Given the description of an element on the screen output the (x, y) to click on. 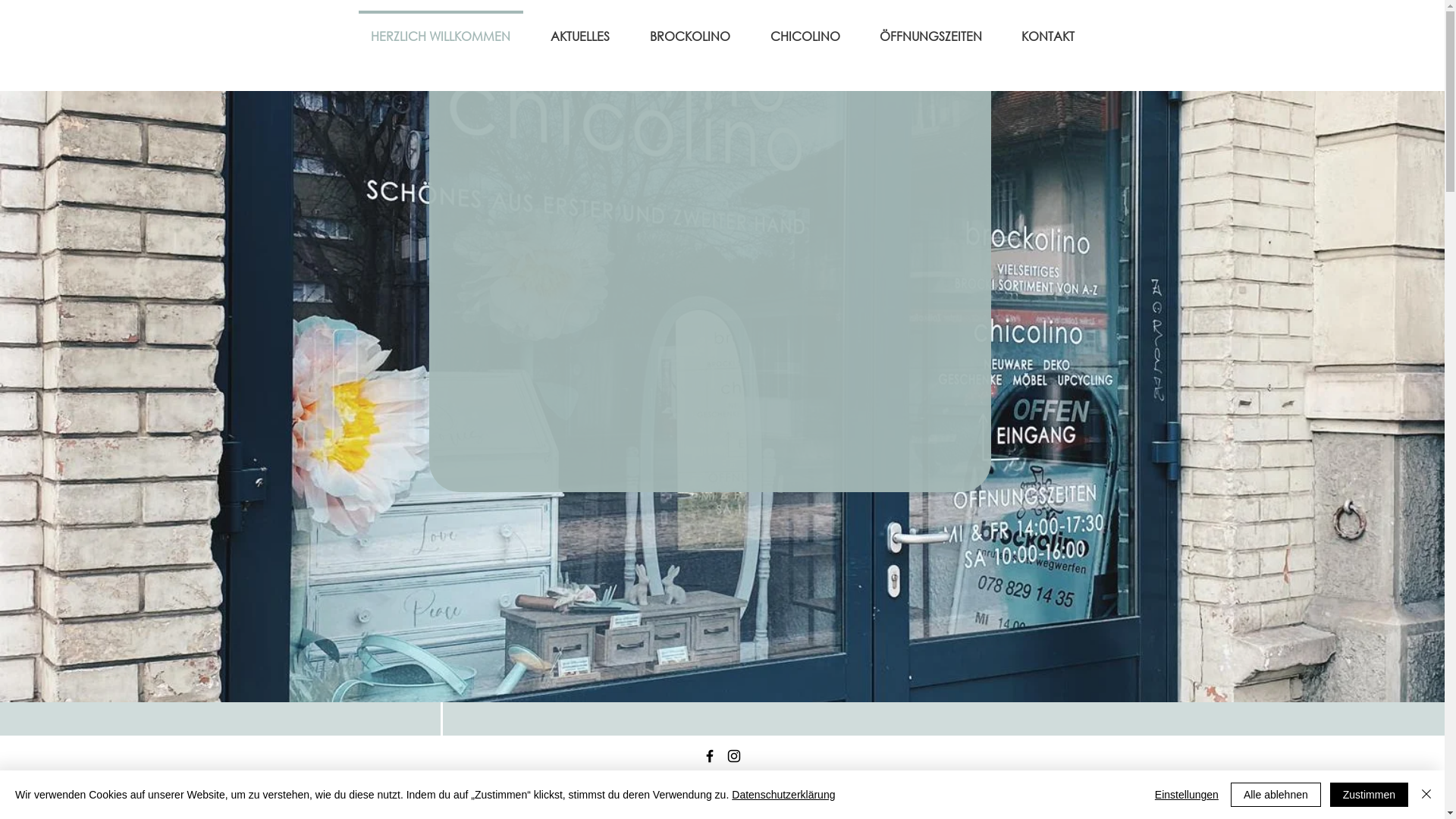
Alle ablehnen Element type: text (1275, 794)
Impressum Element type: text (720, 790)
Zustimmen Element type: text (1369, 794)
HERZLICH WILLKOMMEN Element type: text (440, 29)
AKTUELLES Element type: text (580, 29)
CHICOLINO Element type: text (804, 29)
Anmelden Element type: text (1385, 792)
KONTAKT Element type: text (1047, 29)
BROCKOLINO Element type: text (689, 29)
